Given the description of an element on the screen output the (x, y) to click on. 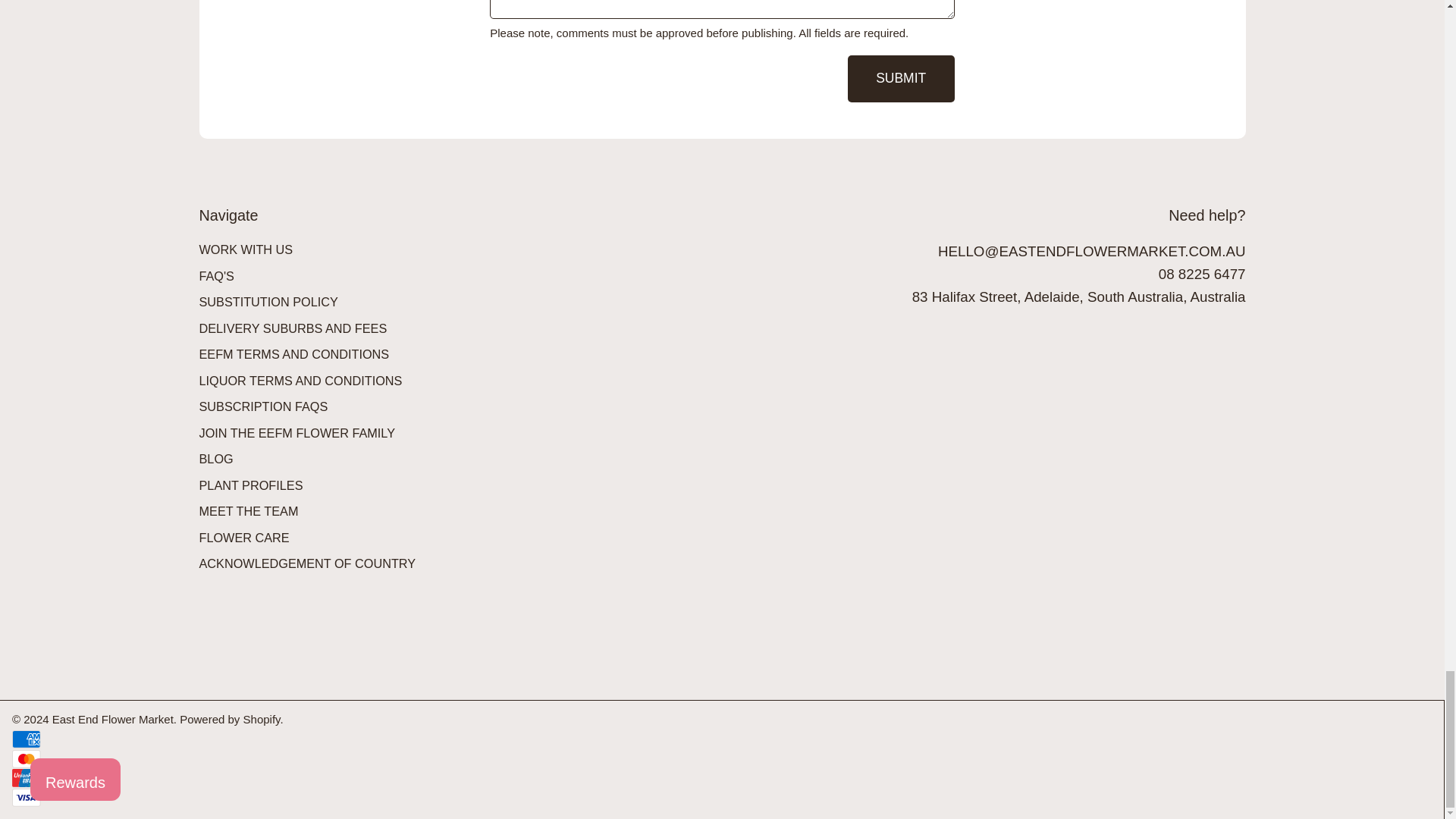
Mastercard (25, 759)
Visa (25, 797)
American Express (25, 739)
Union Pay (25, 778)
